Given the description of an element on the screen output the (x, y) to click on. 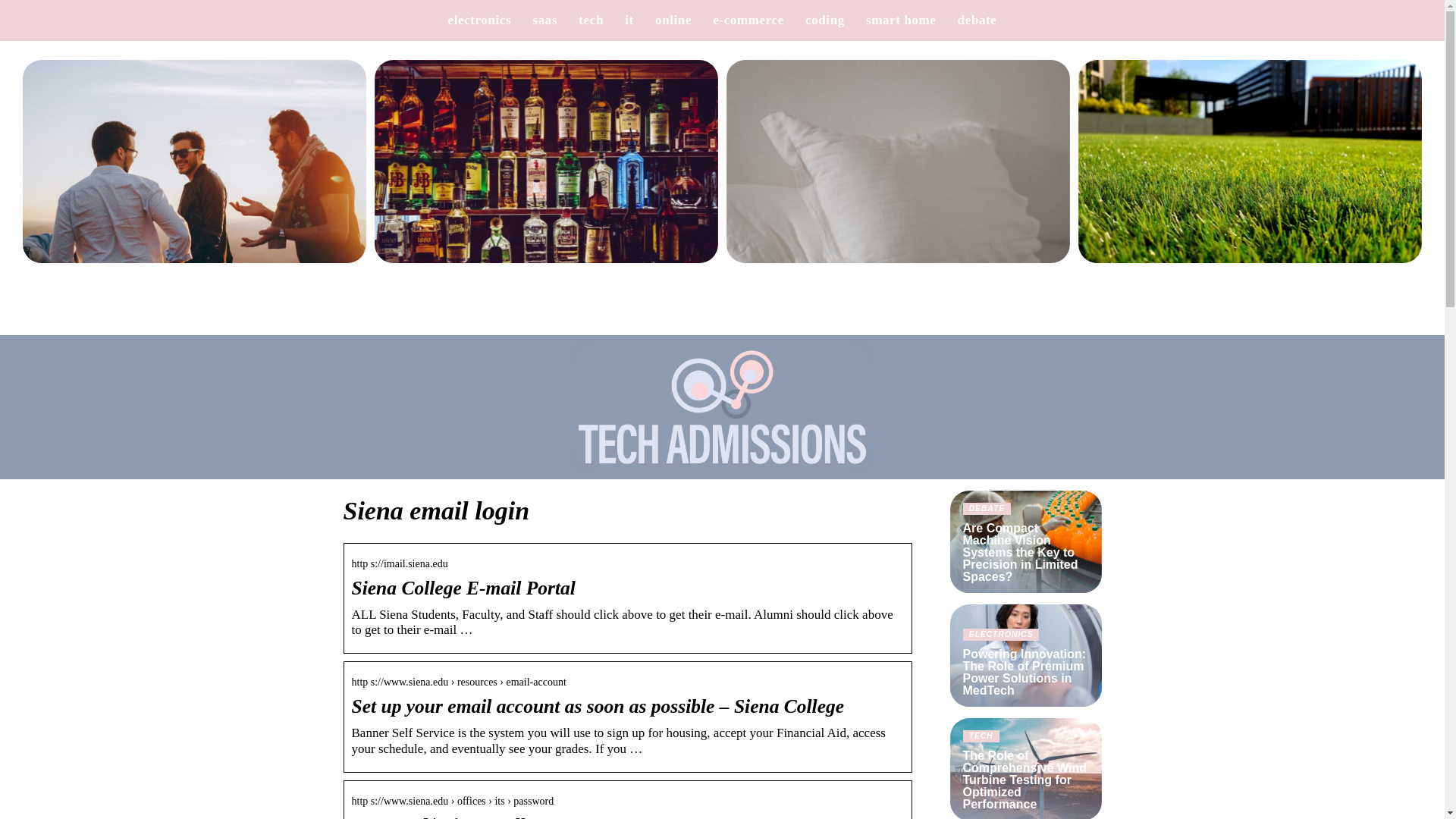
coding (824, 20)
smart home (901, 20)
saas (544, 20)
Therefore, it can make sense to choose rolling grass (1250, 172)
electronics (480, 20)
e-commerce (748, 20)
You must have these drinks in your bar cupboard (545, 172)
How to have the perfect mens night out (194, 172)
